Given the description of an element on the screen output the (x, y) to click on. 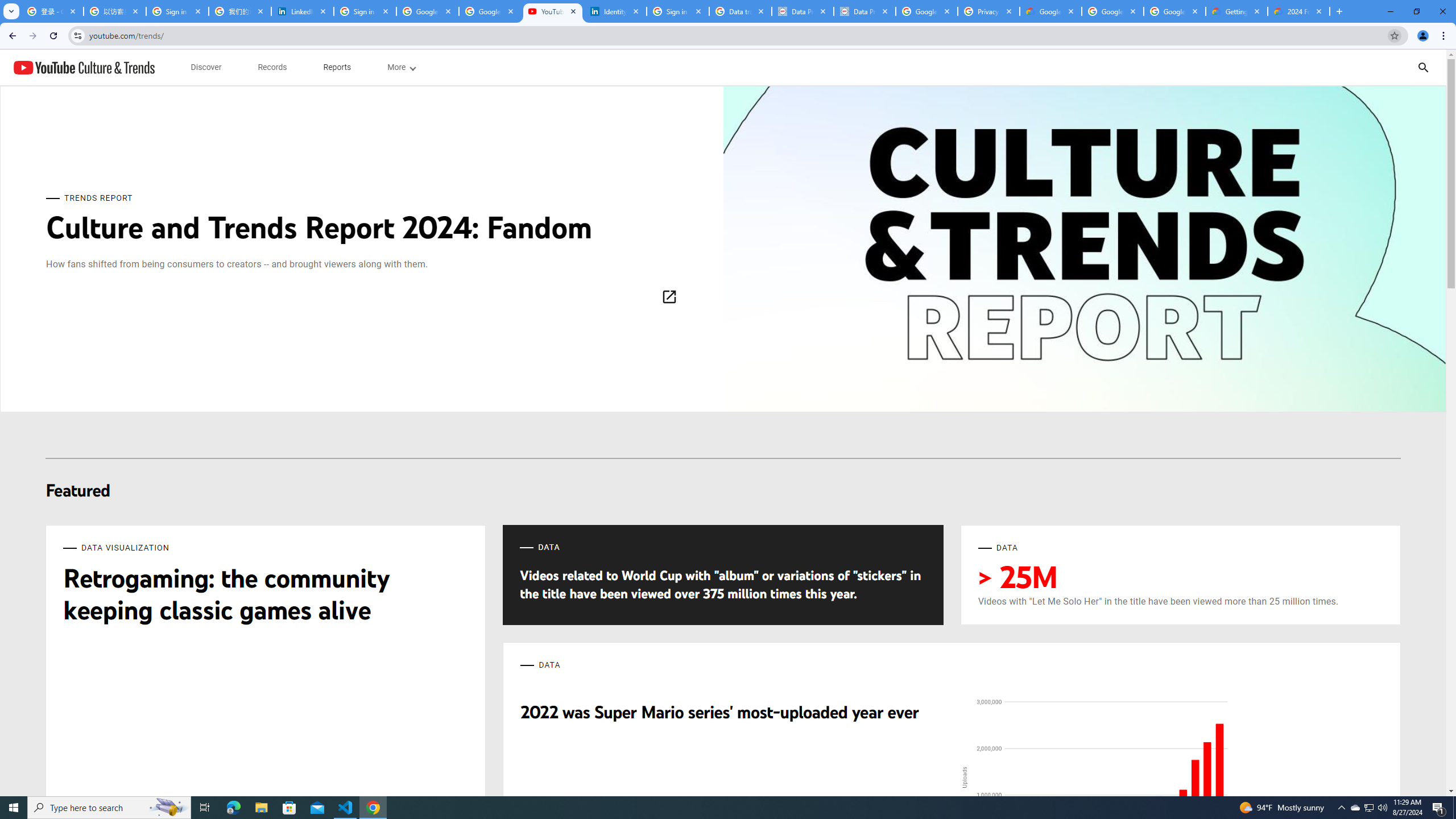
Sign in - Google Accounts (365, 11)
subnav-Reports menupopup (336, 67)
subnav-Records menupopup (271, 67)
subnav-Reports menupopup (336, 67)
